Given the description of an element on the screen output the (x, y) to click on. 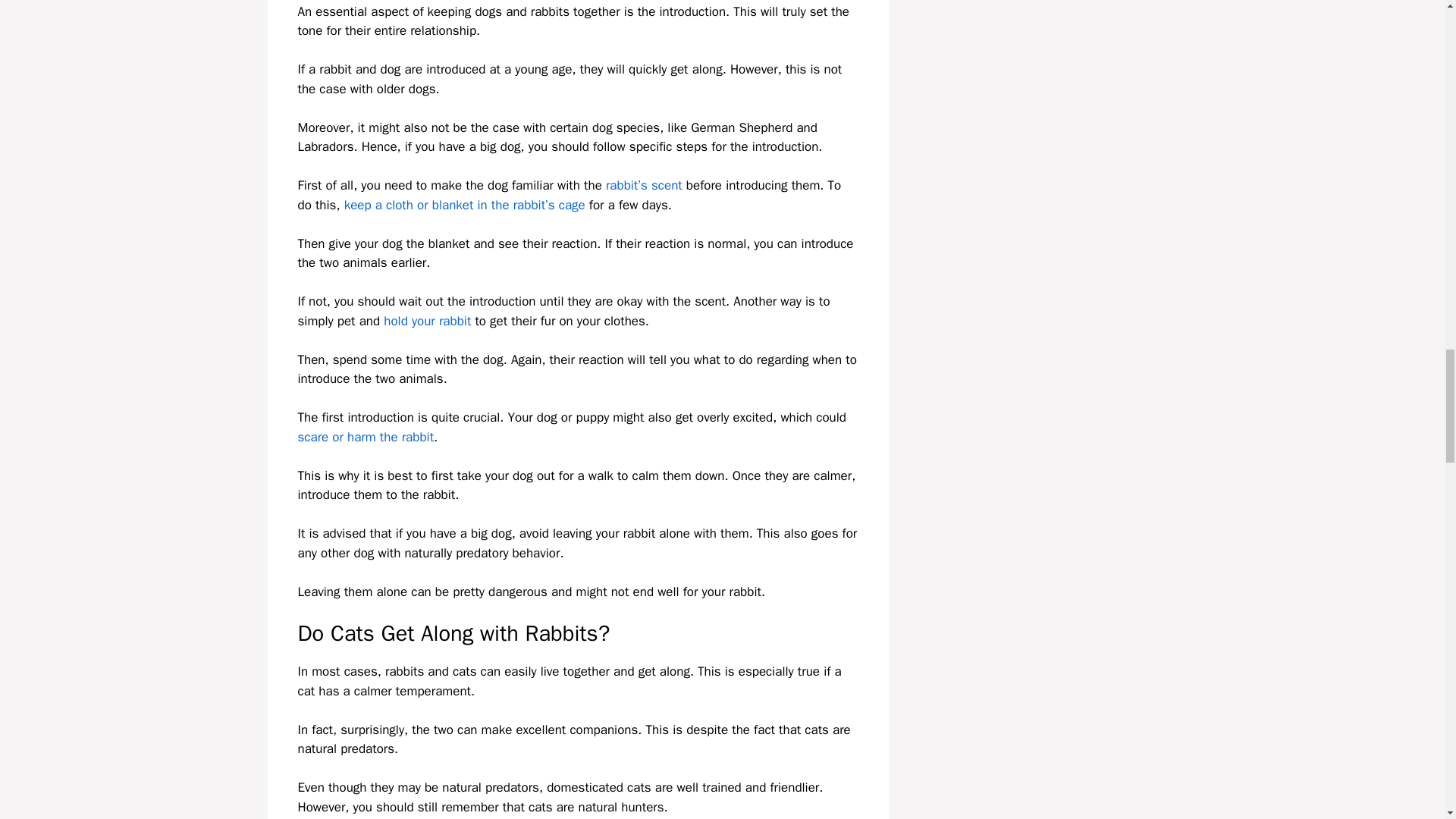
hold your rabbit (427, 320)
scare or harm the rabbit (365, 437)
